Given the description of an element on the screen output the (x, y) to click on. 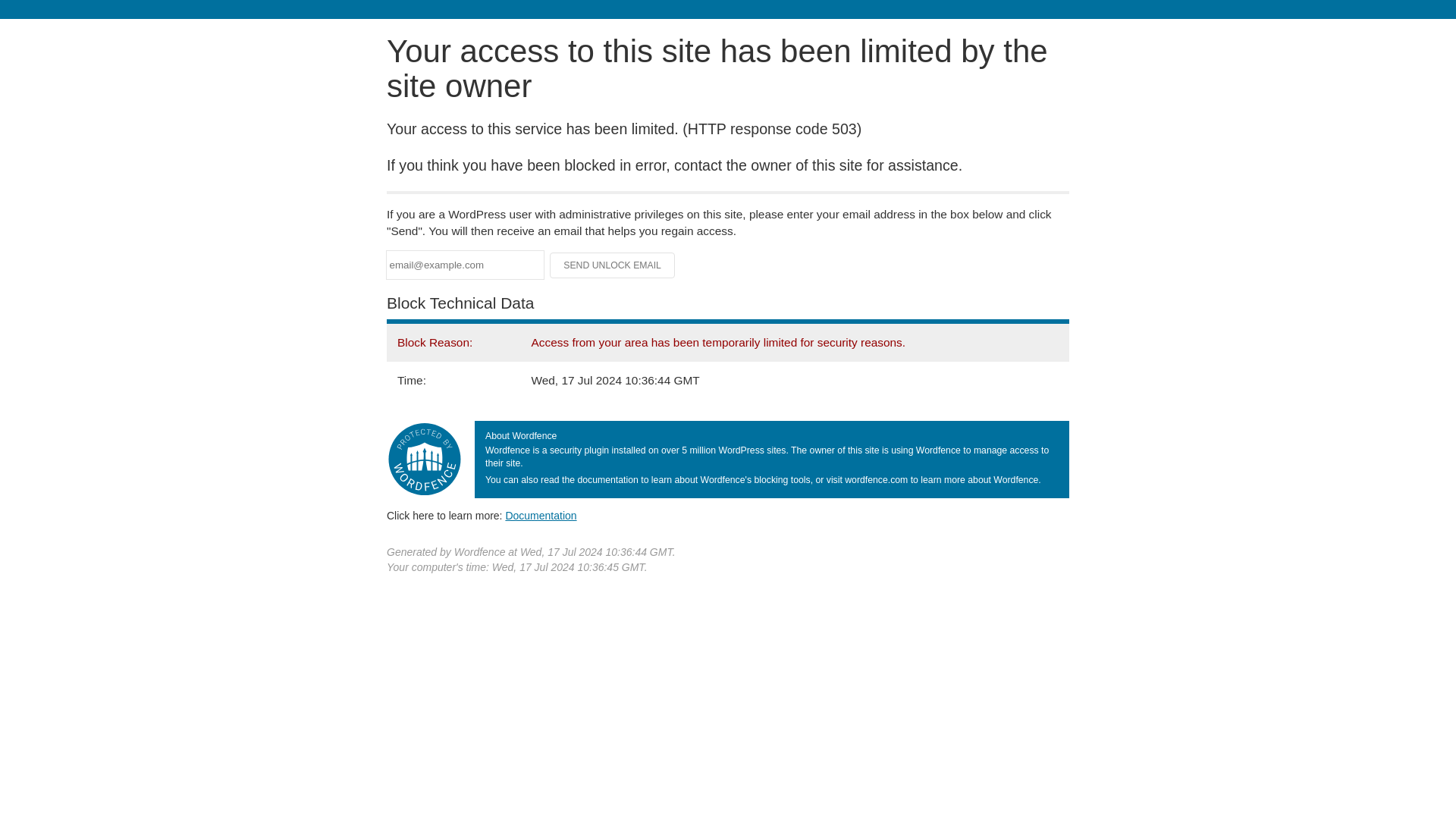
Send Unlock Email (612, 265)
Send Unlock Email (612, 265)
Documentation (540, 515)
